Given the description of an element on the screen output the (x, y) to click on. 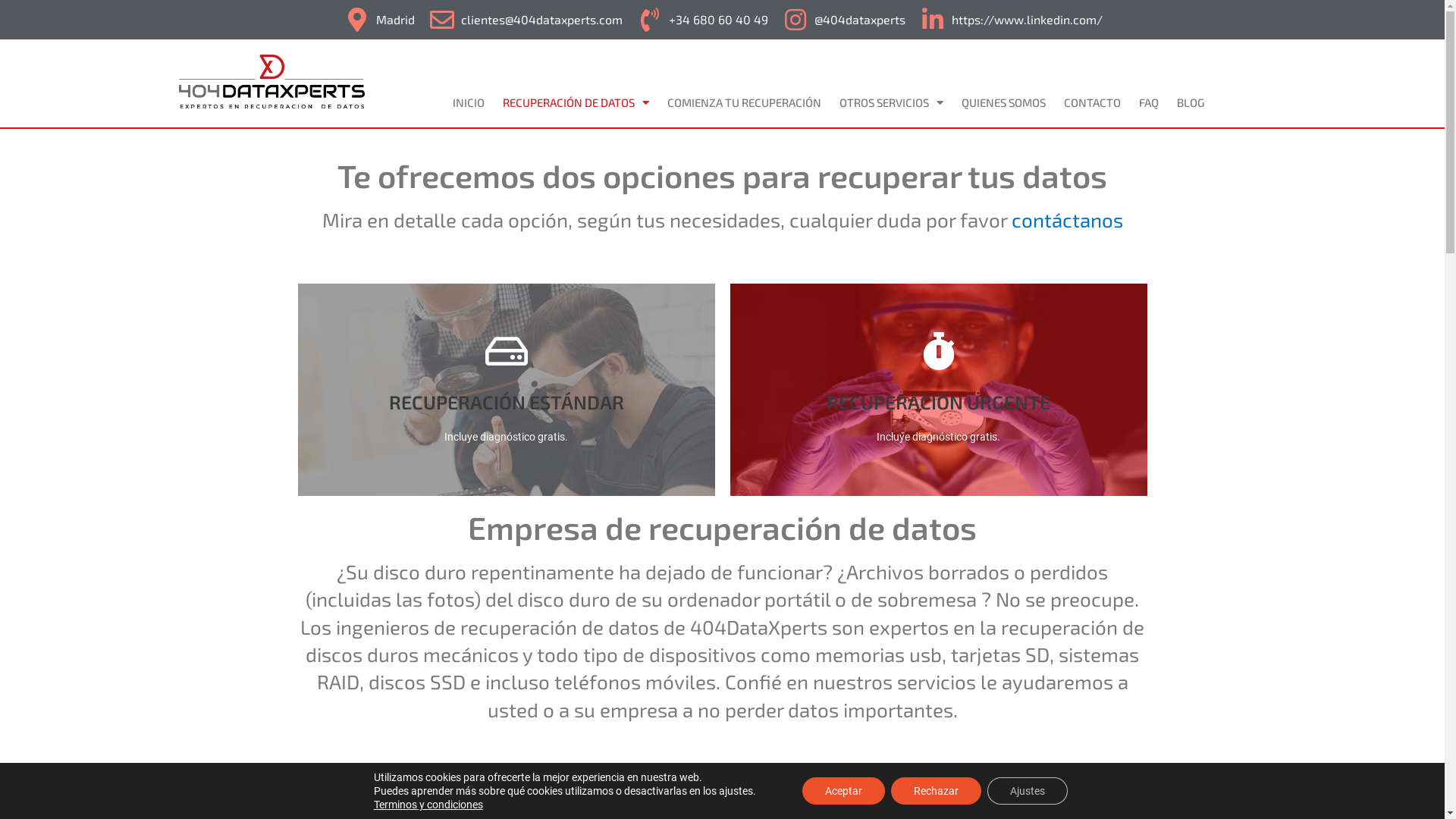
QUIENES SOMOS Element type: text (1003, 101)
Aceptar Element type: text (843, 790)
INICIO Element type: text (468, 101)
Ajustes Element type: text (1027, 790)
BLOG Element type: text (1190, 101)
Terminos y condiciones Element type: text (428, 804)
FAQ Element type: text (1148, 101)
@404dataxperts Element type: text (842, 19)
https://www.linkedin.com/ Element type: text (1009, 19)
OTROS SERVICIOS Element type: text (891, 101)
clientes@404dataxperts.com Element type: text (524, 19)
+34 680 60 40 49 Element type: text (701, 19)
CONTACTO Element type: text (1091, 101)
Rechazar Element type: text (936, 790)
